Given the description of an element on the screen output the (x, y) to click on. 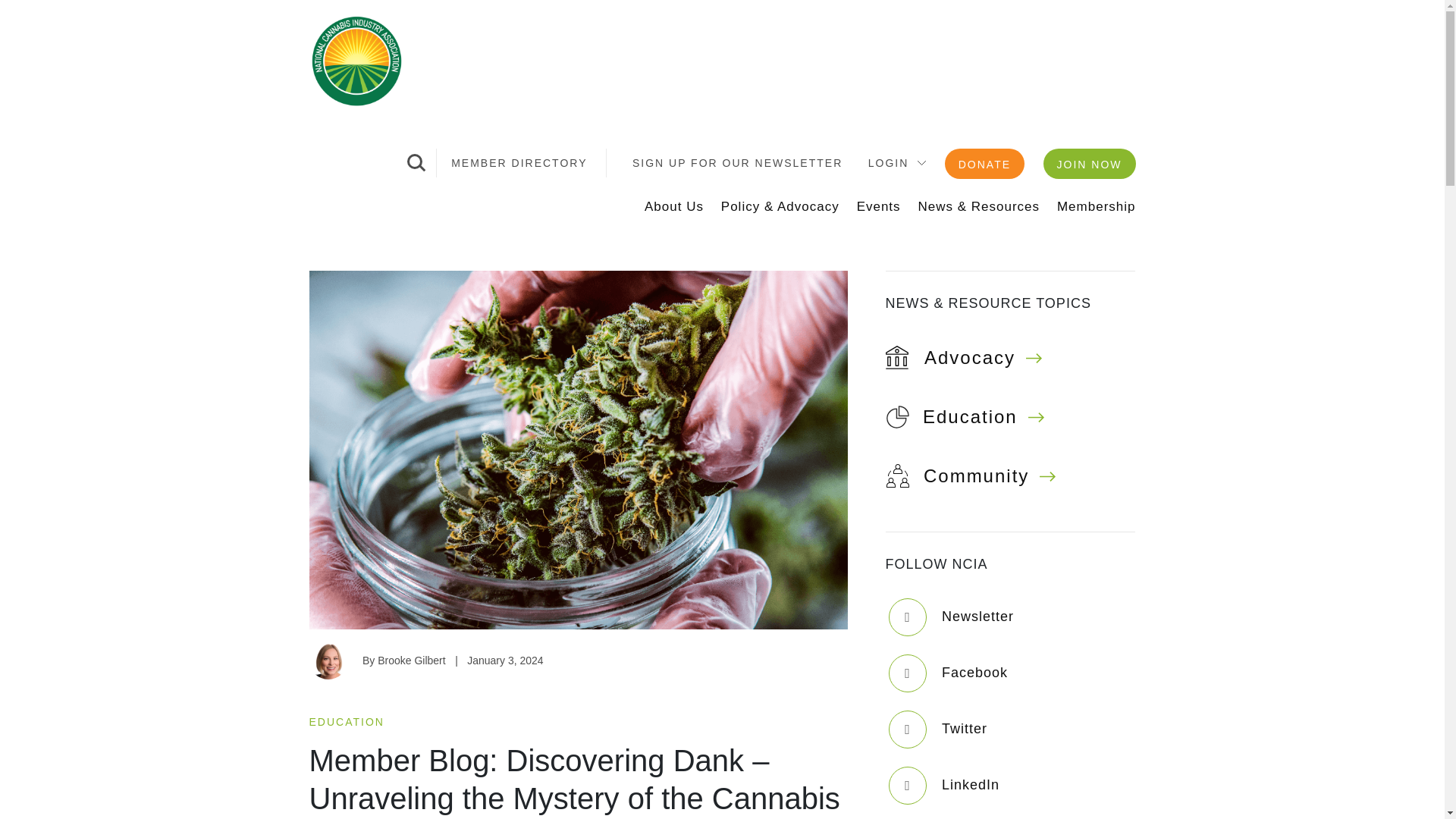
SIGN UP FOR OUR NEWSLETTER (737, 162)
Membership (1096, 206)
DONATE (984, 163)
JOIN NOW (1089, 163)
MEMBER DIRECTORY (518, 162)
LOGIN (887, 162)
About Us (674, 206)
Events (879, 206)
